Given the description of an element on the screen output the (x, y) to click on. 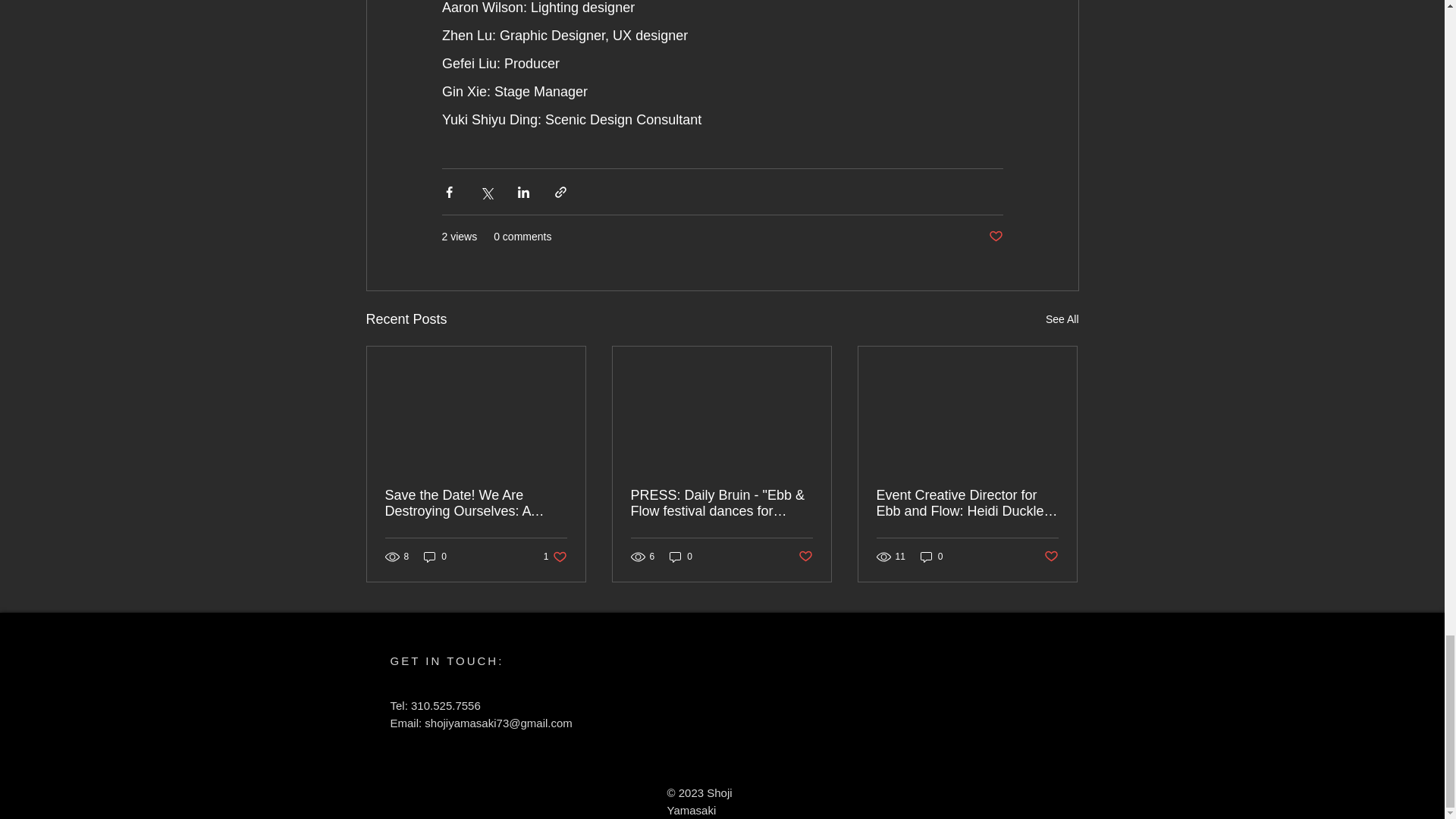
Post not marked as liked (995, 236)
0 (435, 556)
0 (555, 556)
0 (681, 556)
See All (931, 556)
Post not marked as liked (1061, 319)
Post not marked as liked (804, 556)
